Given the description of an element on the screen output the (x, y) to click on. 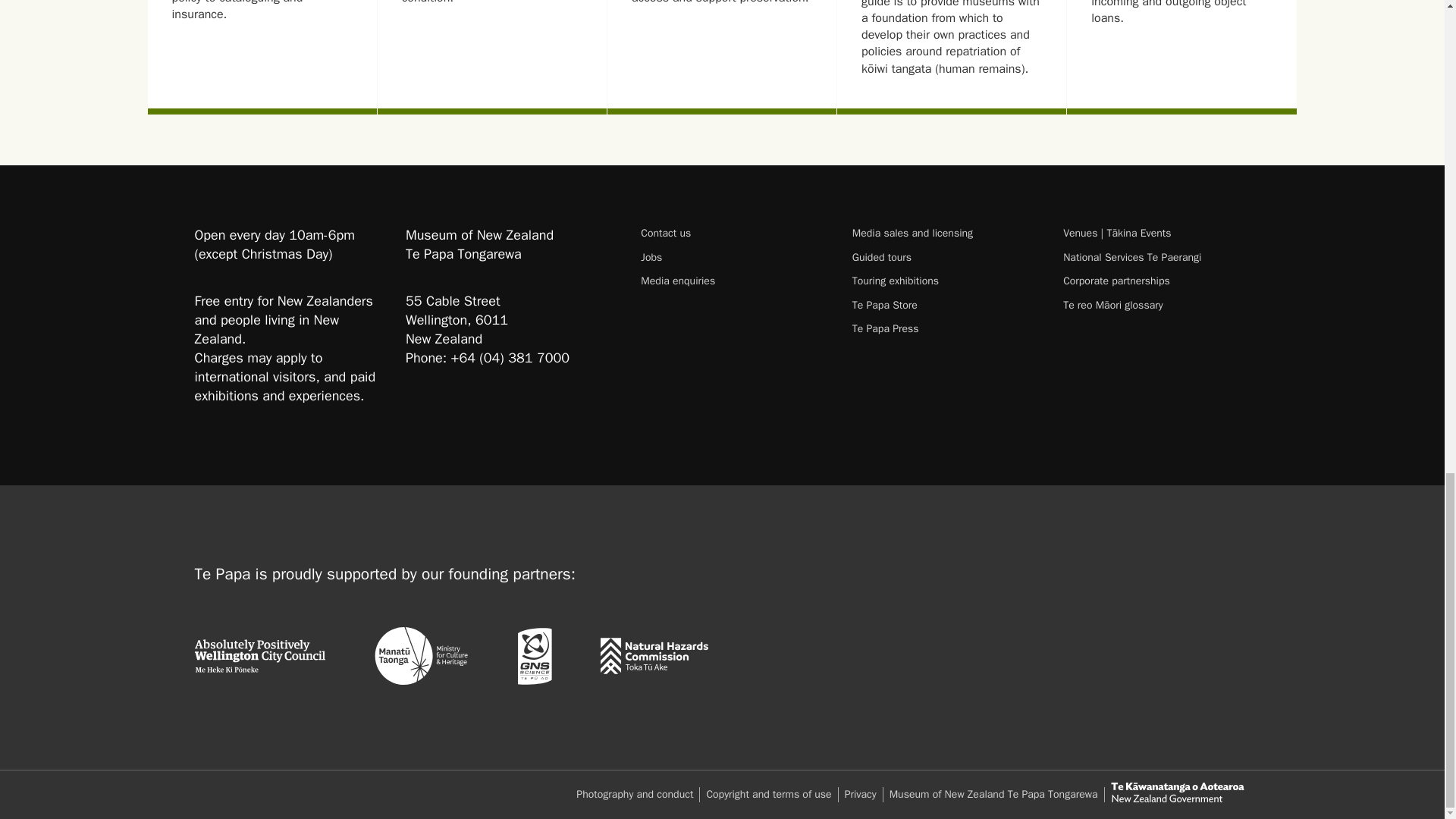
Corporate partnerships (1155, 280)
Te Papa Store (945, 305)
Jobs (733, 257)
National Services Te Paerangi (1155, 257)
Guided tours (945, 257)
Media sales and licensing (945, 233)
Te Papa Press (945, 328)
Touring exhibitions (945, 280)
Contact us (733, 233)
